Given the description of an element on the screen output the (x, y) to click on. 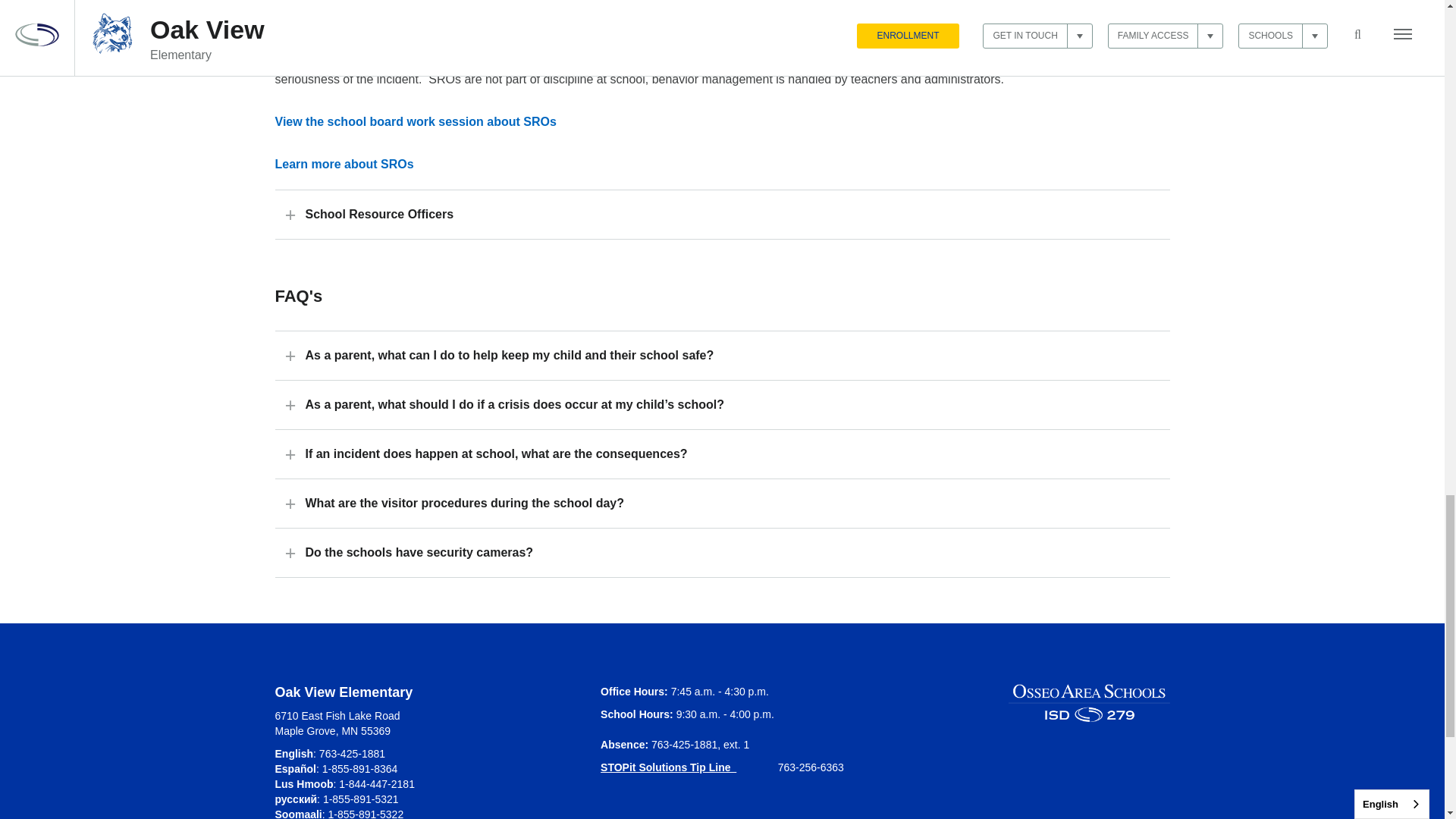
ISD 279 - Osseo Area Schools (1089, 702)
